Given the description of an element on the screen output the (x, y) to click on. 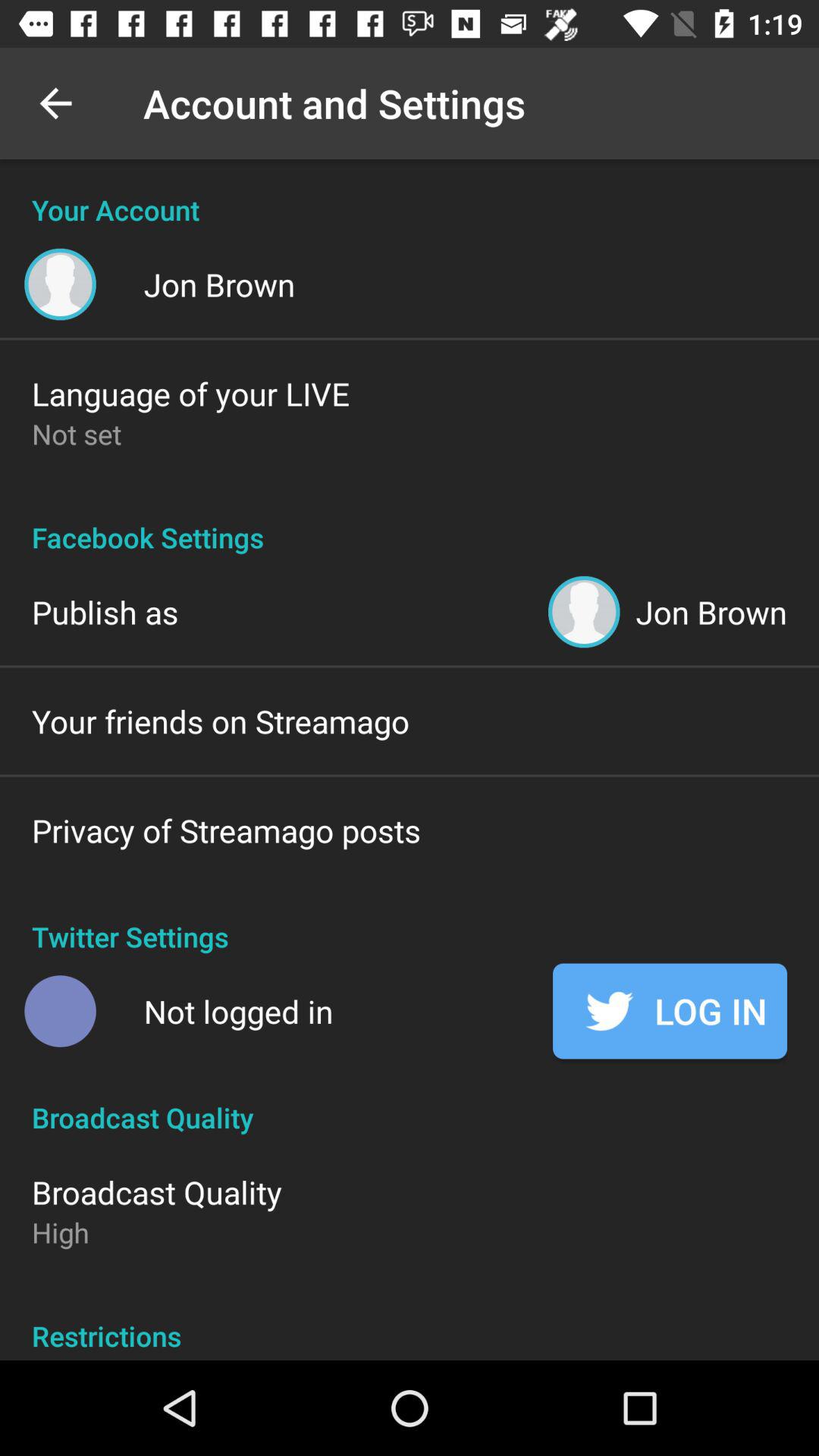
flip to the privacy of streamago item (225, 829)
